Given the description of an element on the screen output the (x, y) to click on. 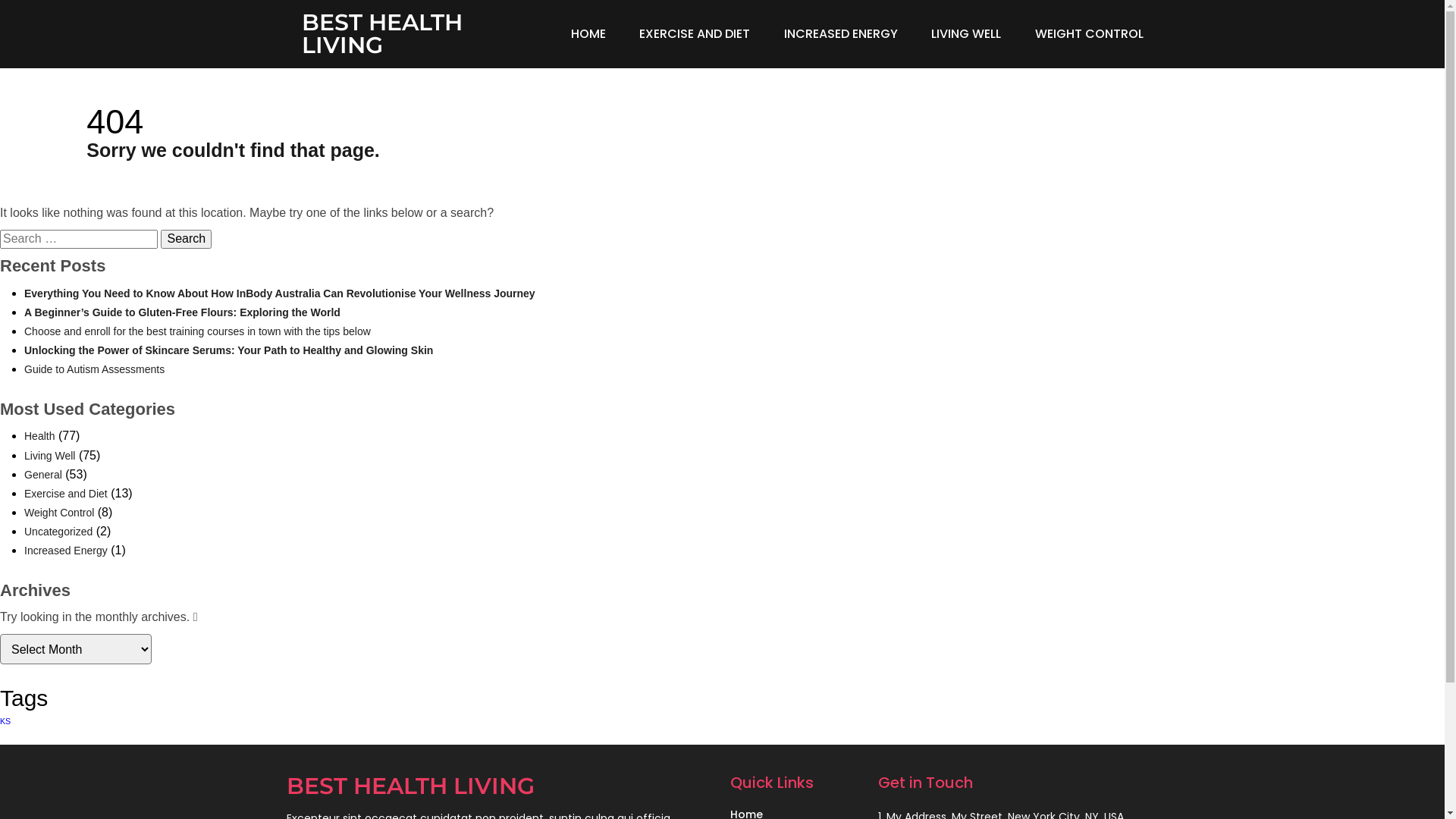
Exercise and Diet Element type: text (65, 493)
Health Element type: text (39, 435)
HOME Element type: text (588, 33)
BEST HEALTH LIVING Element type: text (500, 786)
Guide to Autism Assessments Element type: text (94, 369)
Living Well Element type: text (49, 455)
Increased Energy Element type: text (65, 550)
INCREASED ENERGY Element type: text (840, 33)
General Element type: text (43, 474)
BEST HEALTH LIVING Element type: text (411, 33)
Weight Control Element type: text (59, 512)
Uncategorized Element type: text (58, 531)
LIVING WELL Element type: text (966, 33)
KS Element type: text (5, 720)
EXERCISE AND DIET Element type: text (694, 33)
Search Element type: text (185, 238)
WEIGHT CONTROL Element type: text (1088, 33)
